Given the description of an element on the screen output the (x, y) to click on. 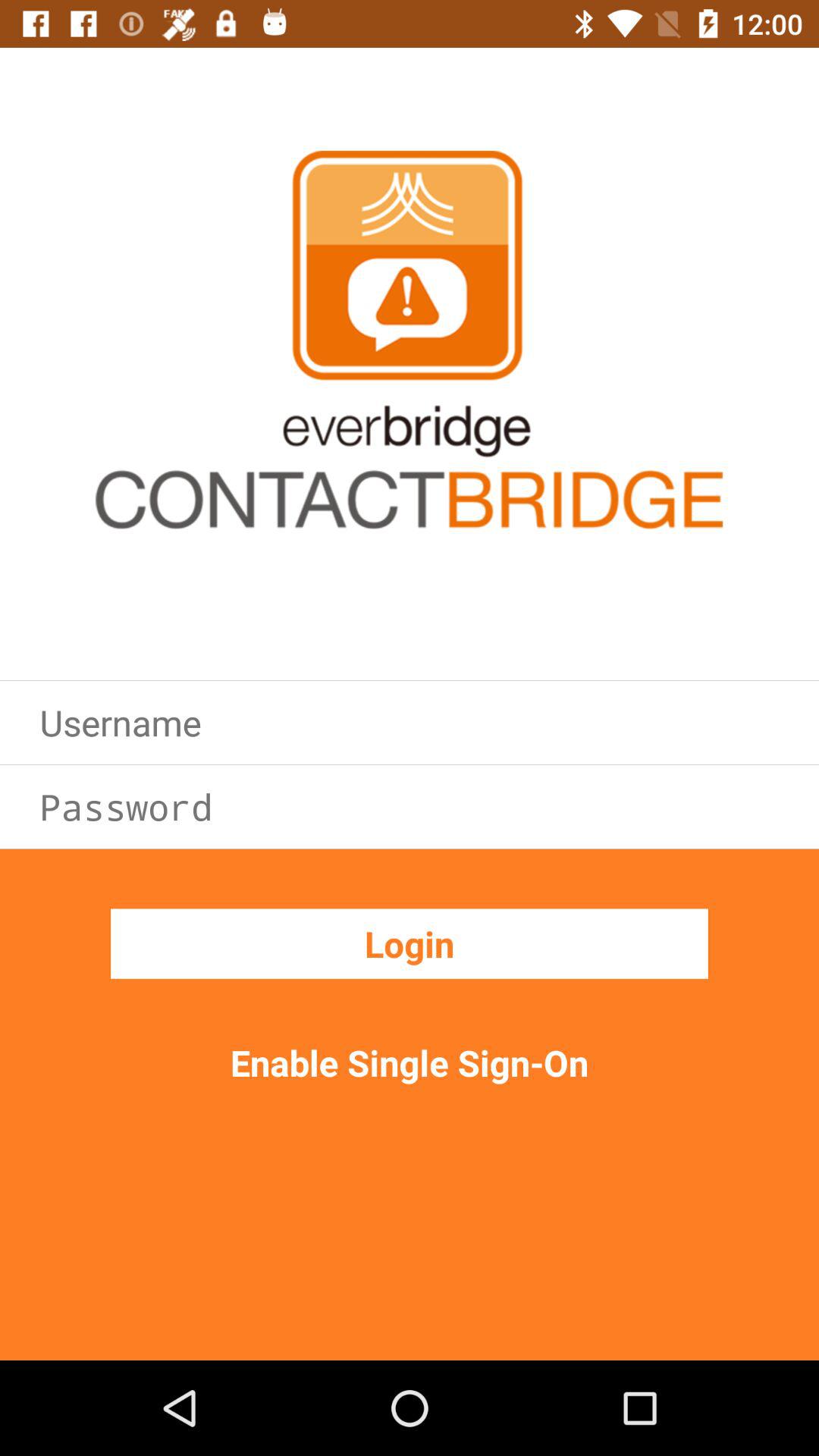
open the login (409, 943)
